Given the description of an element on the screen output the (x, y) to click on. 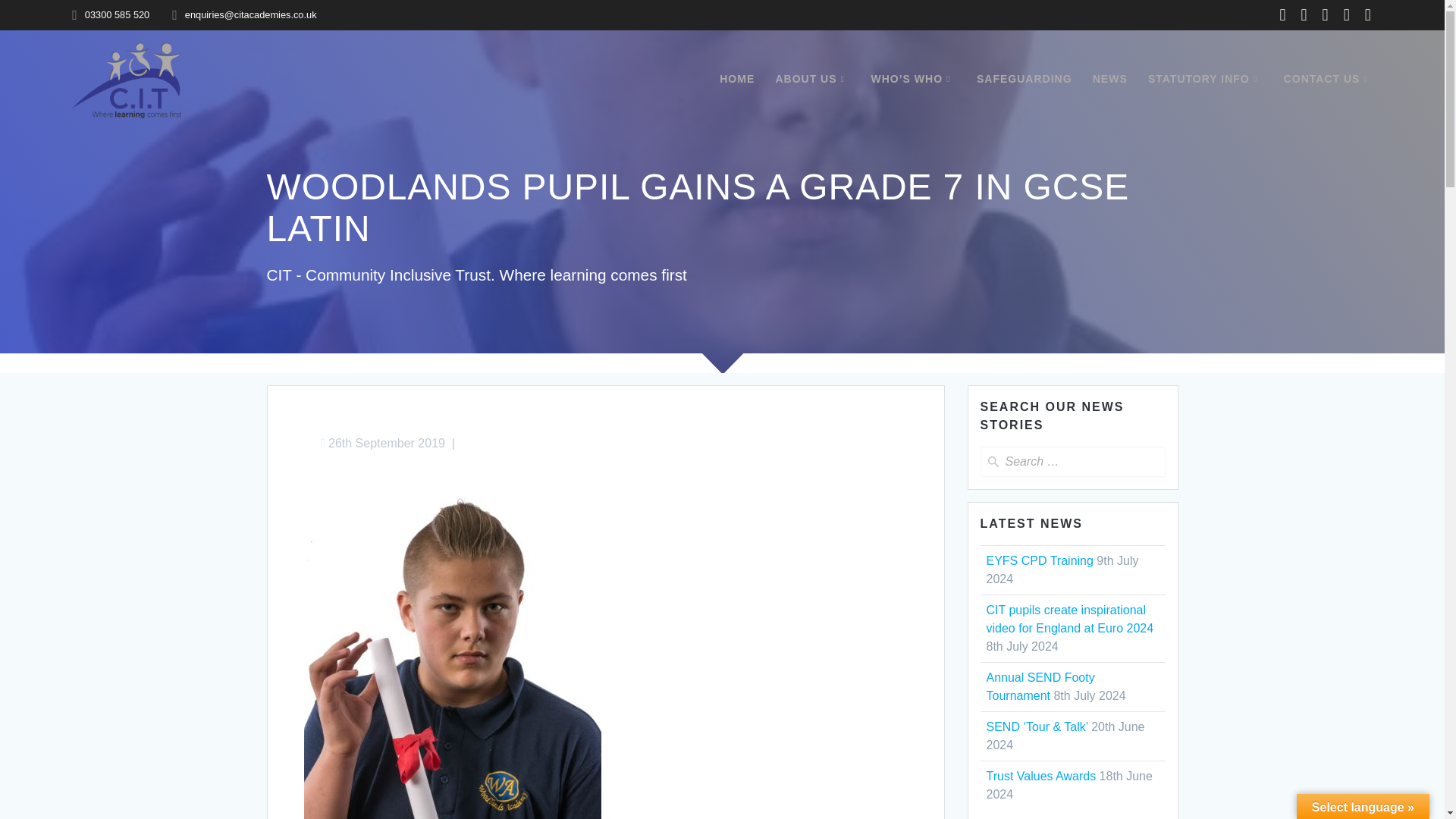
CONTACT US (1329, 79)
HOME (736, 79)
NEWS (1109, 79)
SAFEGUARDING (1023, 79)
STATUTORY INFO (1205, 79)
ABOUT US (812, 79)
